Given the description of an element on the screen output the (x, y) to click on. 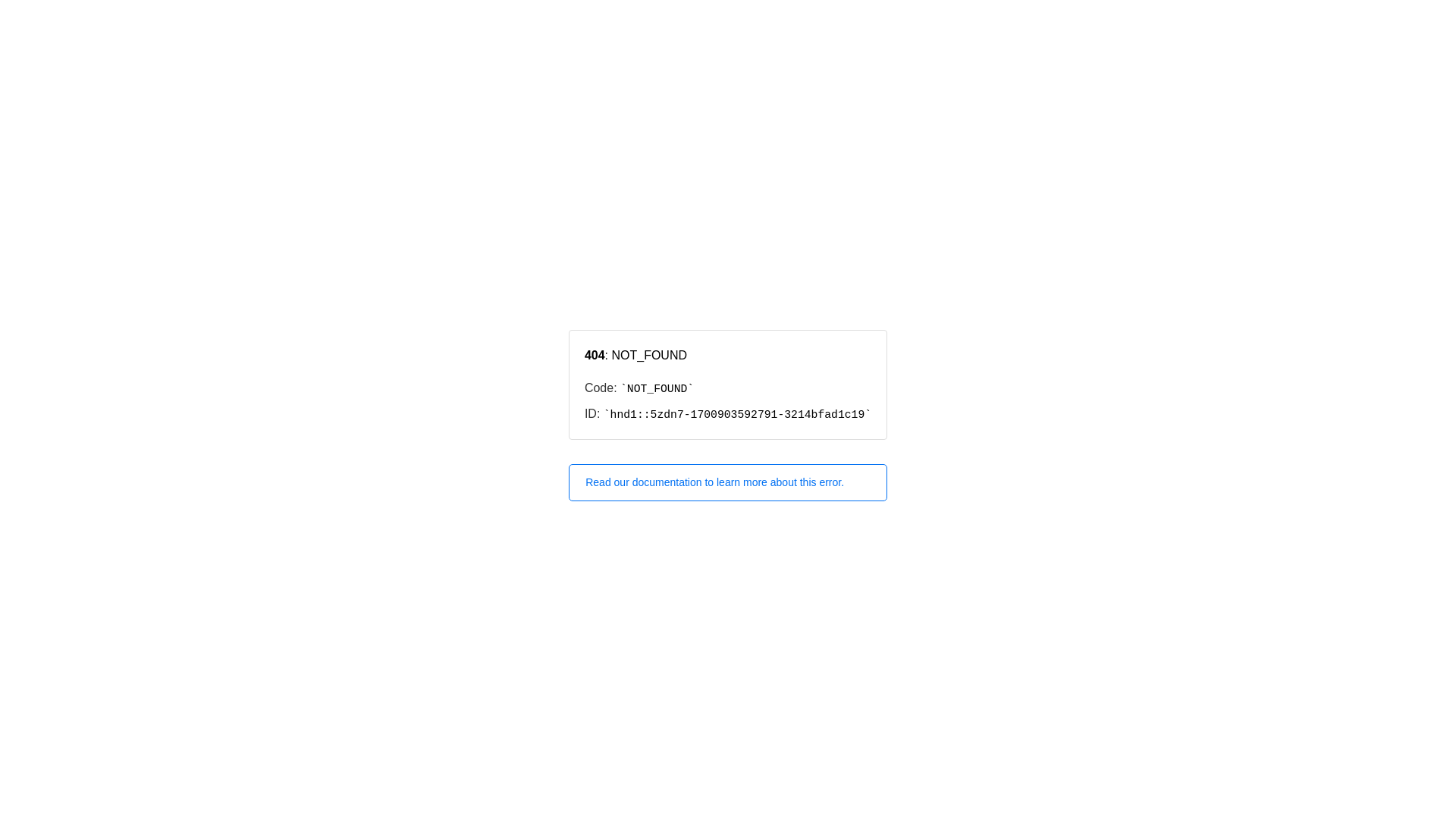
Read our documentation to learn more about this error. Element type: text (727, 482)
